Given the description of an element on the screen output the (x, y) to click on. 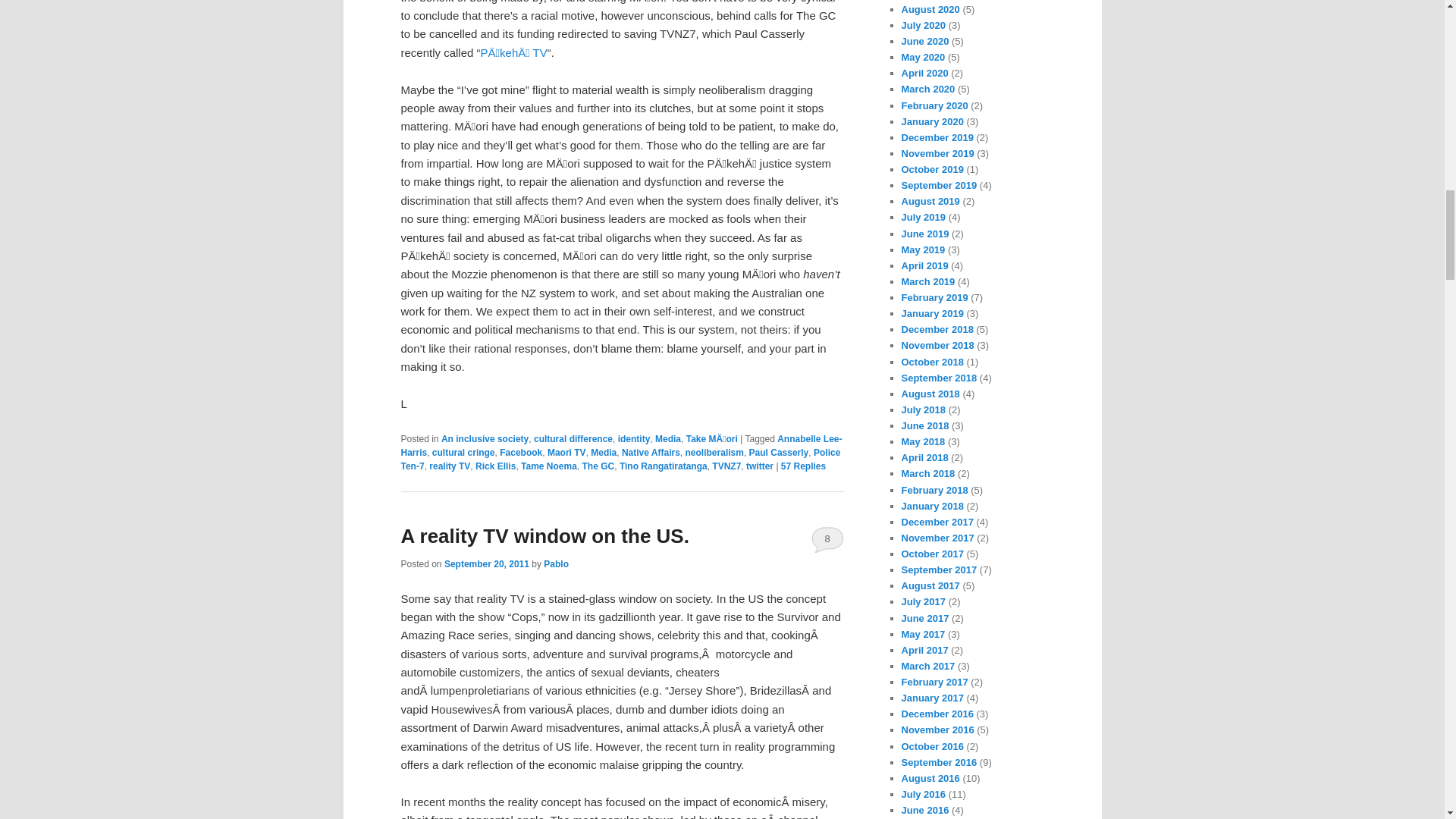
Maori TV (566, 452)
Paul Casserly (779, 452)
Rick Ellis (495, 466)
View all posts by Pablo (556, 563)
08:01 (486, 563)
An inclusive society (484, 439)
Police Ten-7 (620, 459)
neoliberalism (714, 452)
Annabelle Lee-Harris (620, 445)
The GC (598, 466)
